Given the description of an element on the screen output the (x, y) to click on. 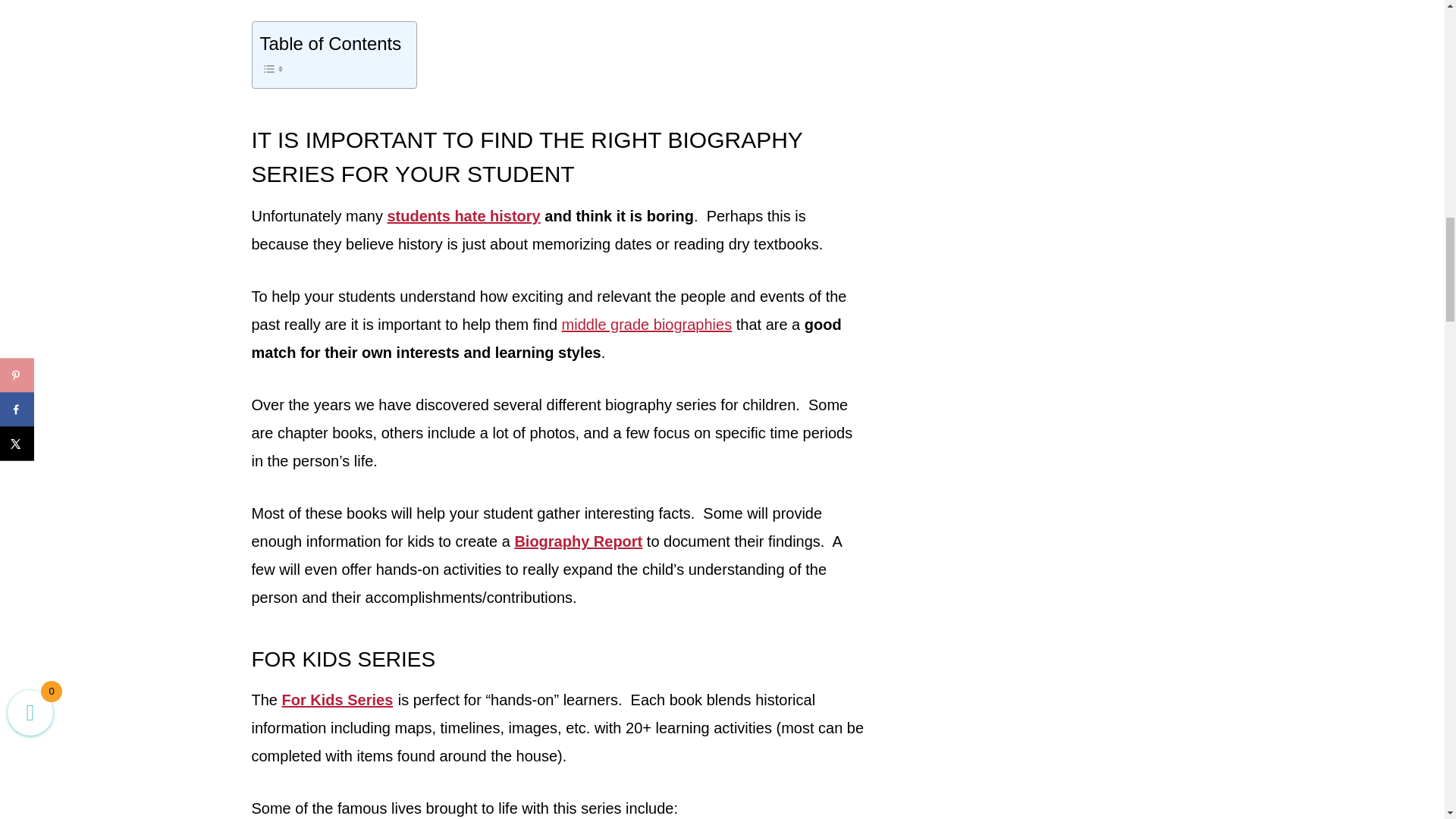
Biography Report (577, 541)
students hate history (463, 216)
middle grade biographies (647, 324)
